Given the description of an element on the screen output the (x, y) to click on. 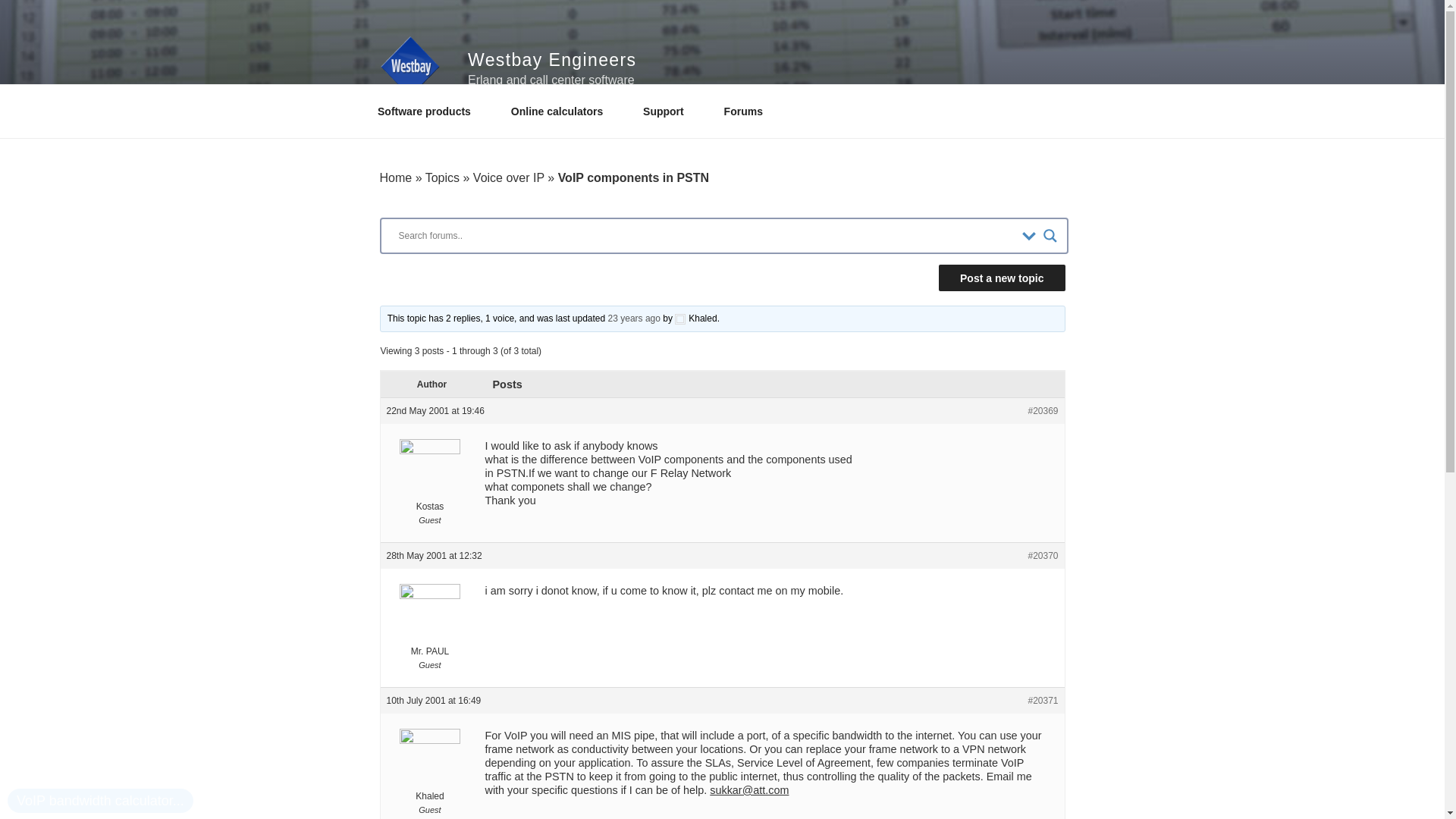
Topics (442, 177)
Software products (429, 110)
Home (395, 177)
Post a new topic (1001, 277)
Reply To: VoIP components in PSTN (634, 317)
Westbay Engineers (551, 59)
Forums (748, 110)
Online calculators (561, 110)
Voice over IP (508, 177)
Support (668, 110)
